Given the description of an element on the screen output the (x, y) to click on. 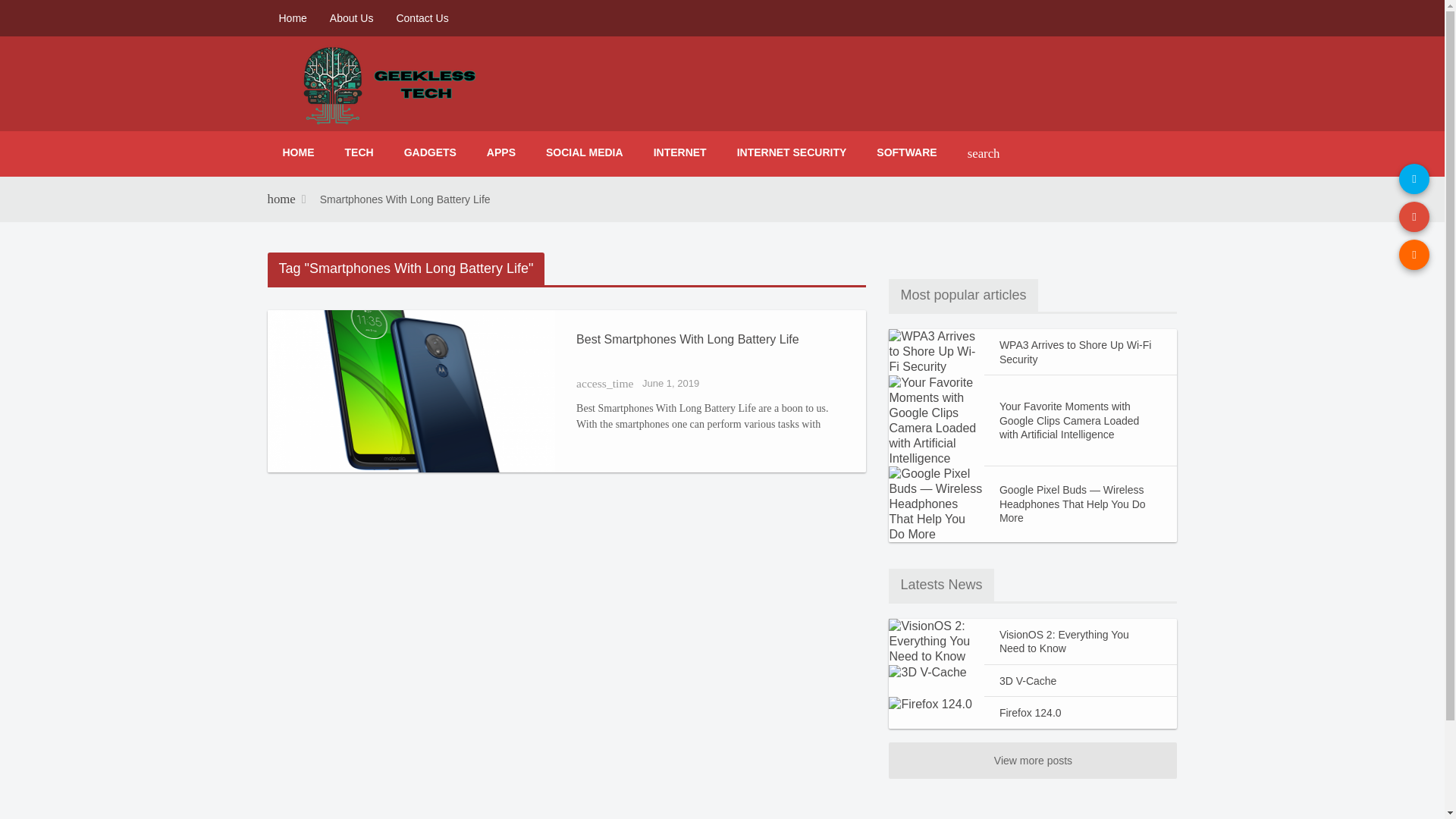
INTERNET SECURITY (791, 152)
3D V-Cache (1080, 680)
SOCIAL MEDIA (585, 152)
About Us (351, 18)
INTERNET (680, 152)
APPS (501, 152)
Home (291, 18)
HOME (297, 152)
SOFTWARE (906, 152)
WPA3 Arrives to Shore Up Wi-Fi Security (1080, 351)
